Given the description of an element on the screen output the (x, y) to click on. 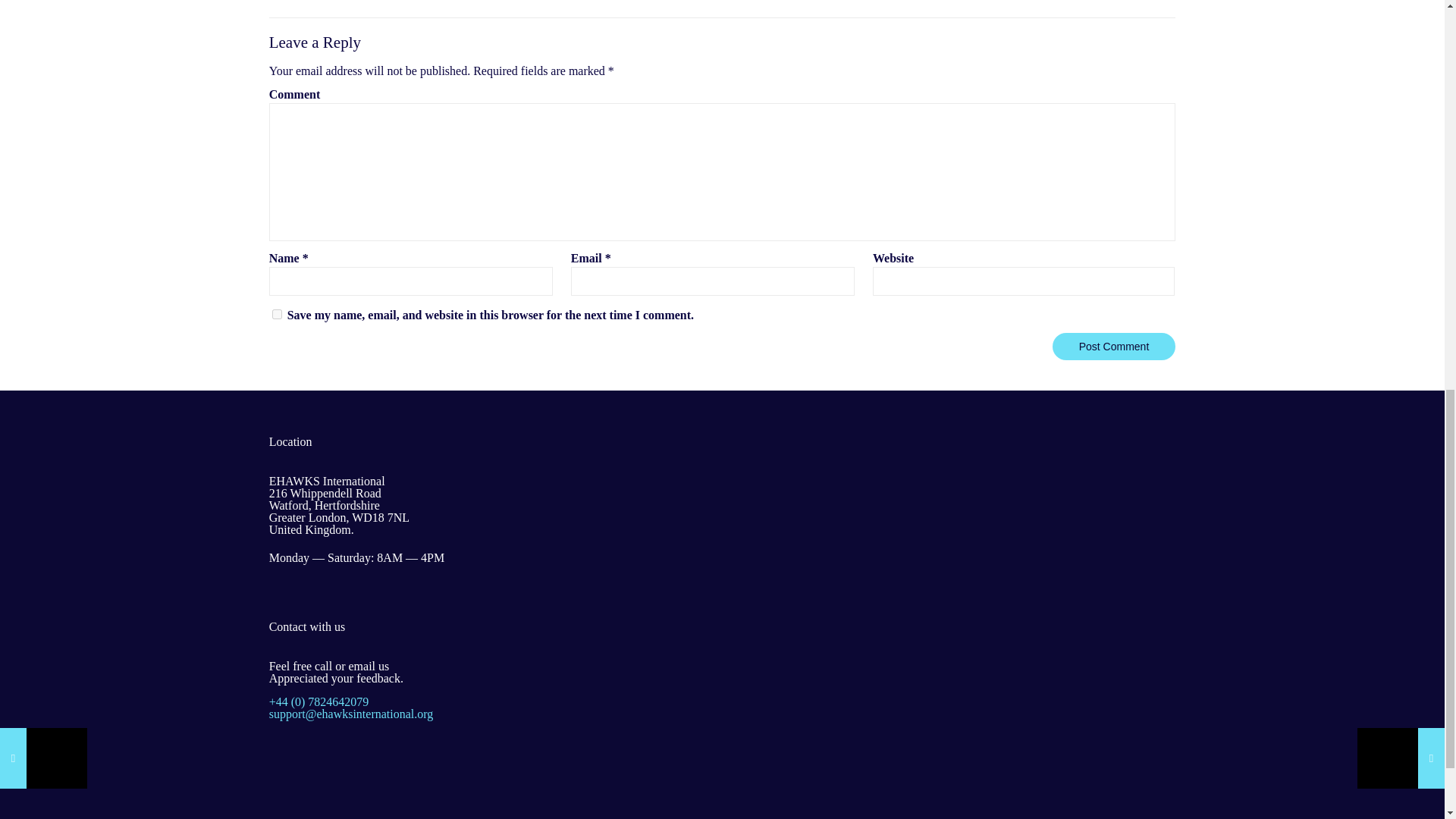
Post Comment (1114, 346)
Post Comment (1114, 346)
yes (277, 314)
